Given the description of an element on the screen output the (x, y) to click on. 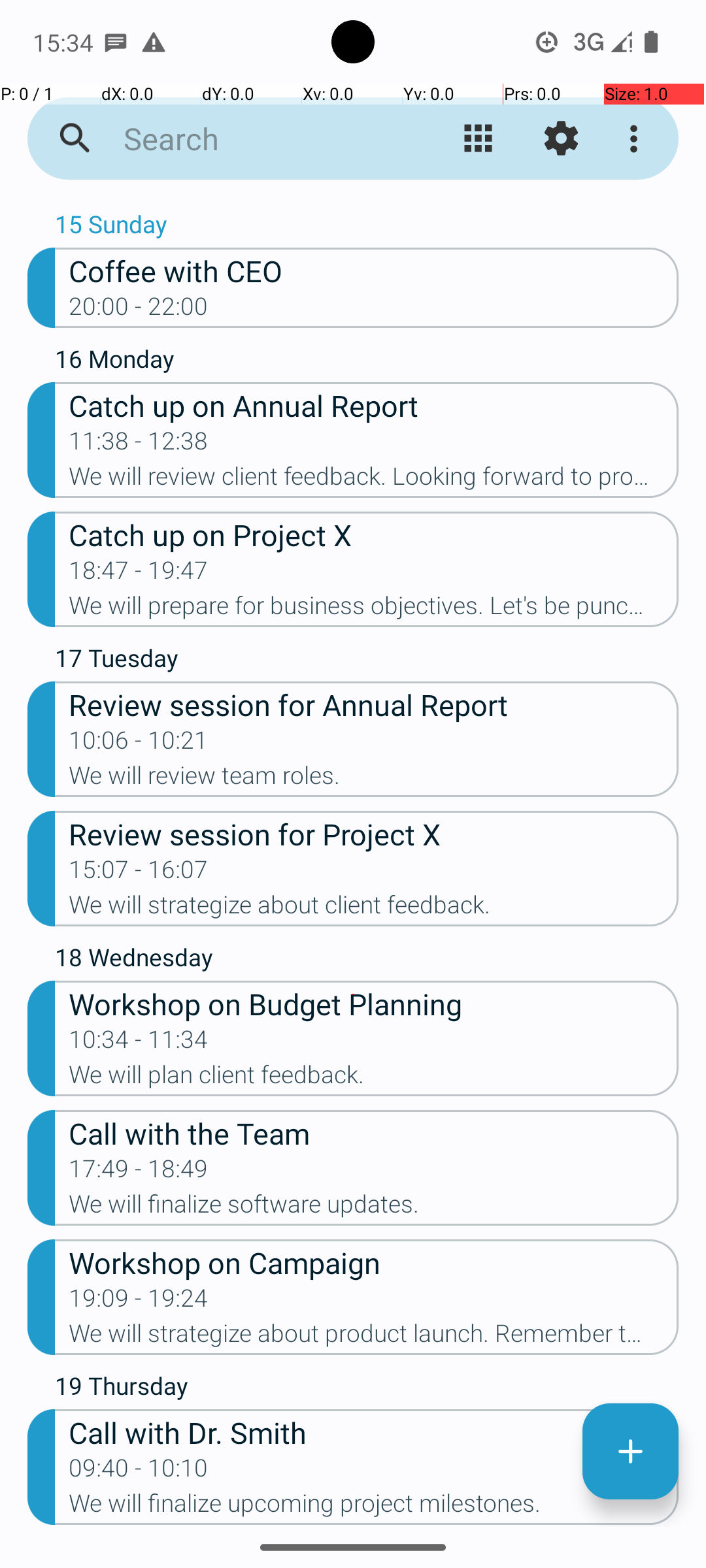
15 Sunday Element type: android.widget.TextView (366, 227)
16 Monday Element type: android.widget.TextView (366, 361)
17 Tuesday Element type: android.widget.TextView (366, 660)
18 Wednesday Element type: android.widget.TextView (366, 960)
19 Thursday Element type: android.widget.TextView (366, 1388)
Coffee with CEO Element type: android.widget.TextView (373, 269)
20:00 - 22:00 Element type: android.widget.TextView (137, 309)
Catch up on Annual Report Element type: android.widget.TextView (373, 404)
11:38 - 12:38 Element type: android.widget.TextView (137, 444)
We will review client feedback. Looking forward to productive discussions. Element type: android.widget.TextView (373, 479)
Catch up on Project X Element type: android.widget.TextView (373, 533)
18:47 - 19:47 Element type: android.widget.TextView (137, 573)
We will prepare for business objectives. Let's be punctual. Element type: android.widget.TextView (373, 609)
Review session for Annual Report Element type: android.widget.TextView (373, 703)
10:06 - 10:21 Element type: android.widget.TextView (137, 743)
We will review team roles. Element type: android.widget.TextView (373, 779)
Review session for Project X Element type: android.widget.TextView (373, 832)
15:07 - 16:07 Element type: android.widget.TextView (137, 873)
We will strategize about client feedback. Element type: android.widget.TextView (373, 908)
Workshop on Budget Planning Element type: android.widget.TextView (373, 1002)
10:34 - 11:34 Element type: android.widget.TextView (137, 1043)
We will plan client feedback. Element type: android.widget.TextView (373, 1078)
Call with the Team Element type: android.widget.TextView (373, 1132)
17:49 - 18:49 Element type: android.widget.TextView (137, 1172)
We will finalize software updates. Element type: android.widget.TextView (373, 1207)
Workshop on Campaign Element type: android.widget.TextView (373, 1261)
19:09 - 19:24 Element type: android.widget.TextView (137, 1301)
We will strategize about product launch. Remember to confirm attendance. Element type: android.widget.TextView (373, 1337)
Call with Dr. Smith Element type: android.widget.TextView (373, 1431)
09:40 - 10:10 Element type: android.widget.TextView (137, 1471)
We will finalize upcoming project milestones. Element type: android.widget.TextView (373, 1506)
